Given the description of an element on the screen output the (x, y) to click on. 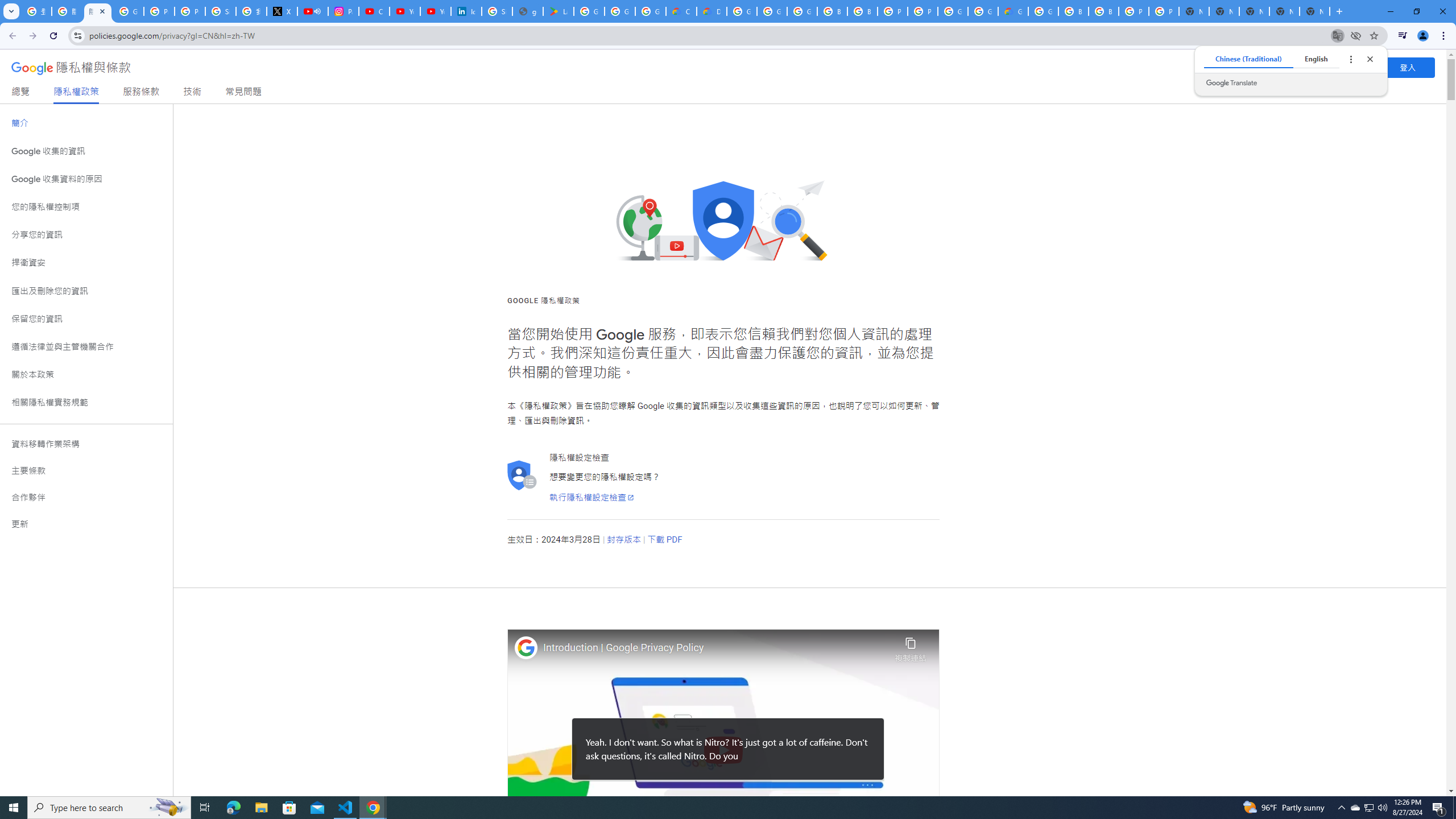
Last Shelter: Survival - Apps on Google Play (558, 11)
Privacy Help Center - Policies Help (189, 11)
Google Workspace - Specific Terms (650, 11)
Google Cloud Platform (982, 11)
